Given the description of an element on the screen output the (x, y) to click on. 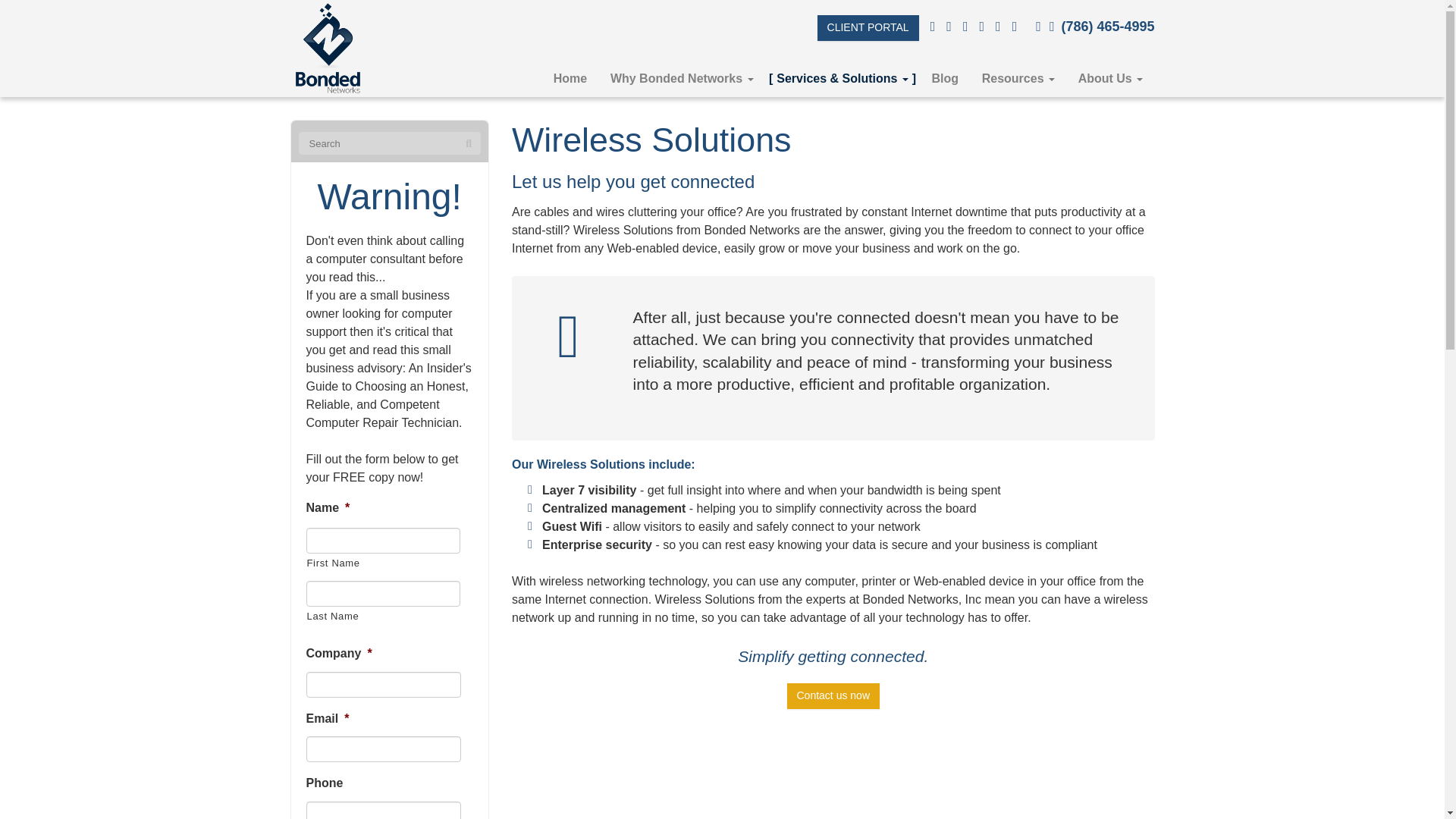
Search (468, 143)
Blog (944, 78)
CLIENT PORTAL (867, 27)
About Us (1109, 78)
Contact us now (833, 696)
Resources (1017, 78)
Home (569, 78)
Why Bonded Networks (681, 78)
